Given the description of an element on the screen output the (x, y) to click on. 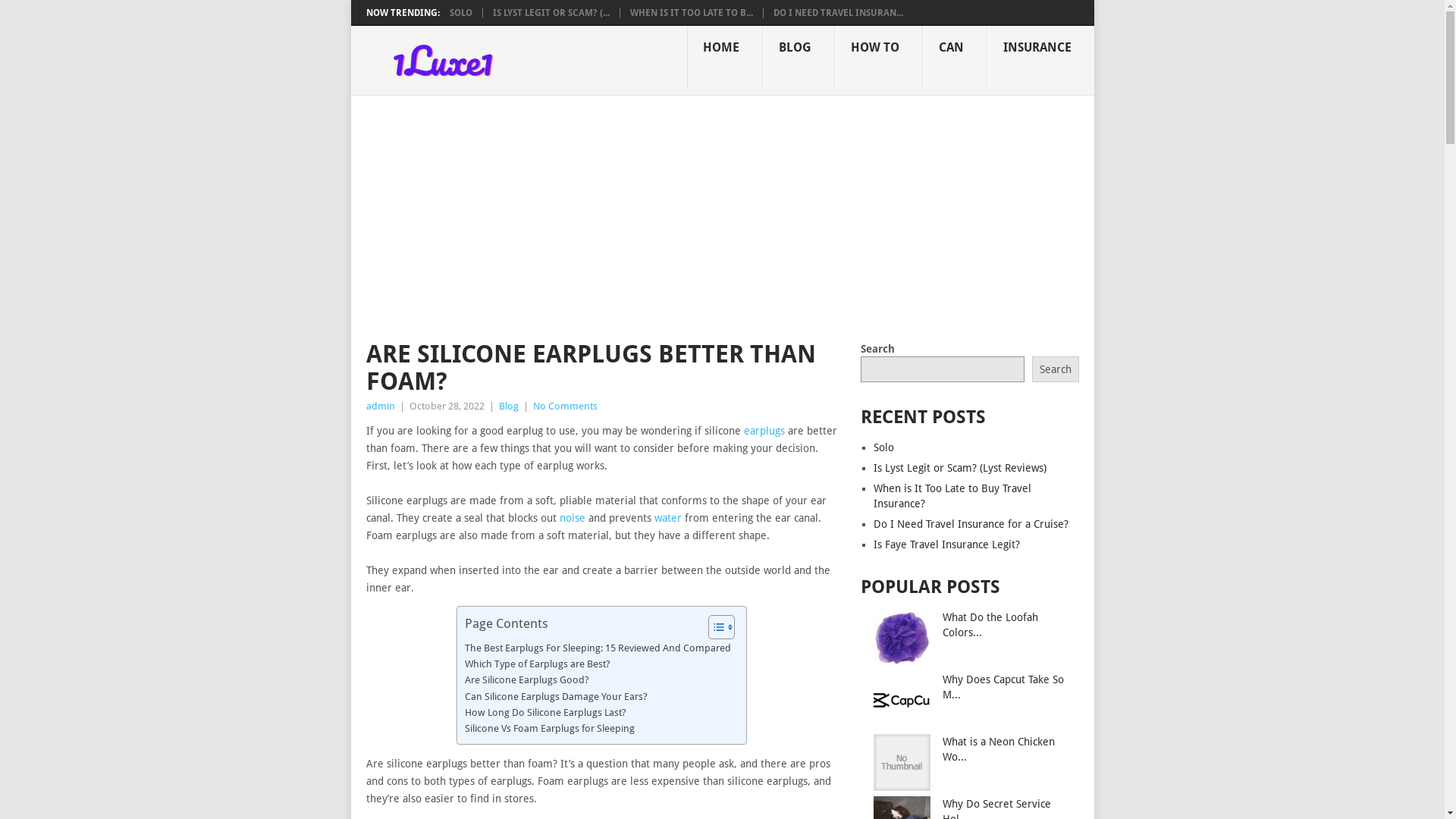
CAN Element type: text (954, 56)
HOW TO Element type: text (878, 56)
earplugs Element type: text (763, 430)
Blog Element type: text (508, 405)
The Best Earplugs For Sleeping: 15 Reviewed And Compared Element type: text (597, 647)
Is Lyst Legit or Scam? (Lyst Reviews) Element type: text (959, 467)
Can Silicone Earplugs Damage Your Ears? Element type: text (555, 696)
admin Element type: text (379, 405)
noise Element type: text (572, 517)
DO I NEED TRAVEL INSURAN... Element type: text (838, 12)
No Comments Element type: text (564, 405)
Which Type of Earplugs are Best? Element type: text (537, 663)
Advertisement Element type: hover (721, 209)
How Long Do Silicone Earplugs Last? Element type: text (545, 712)
INSURANCE Element type: text (1040, 56)
When is It Too Late to Buy Travel Insurance? Element type: text (952, 495)
What is a Neon Chicken Wo... Element type: text (998, 748)
Are Silicone Earplugs Good? Element type: text (526, 679)
What Do the Loofah Colors... Element type: text (990, 624)
Search Element type: text (1055, 369)
HOME Element type: text (724, 56)
Do I Need Travel Insurance for a Cruise? Element type: text (970, 523)
Solo Element type: text (883, 447)
Is Faye Travel Insurance Legit? Element type: text (946, 544)
Silicone Vs Foam Earplugs for Sleeping Element type: text (549, 728)
SOLO Element type: text (459, 12)
BLOG Element type: text (798, 56)
water Element type: text (666, 517)
Why Does Capcut Take So M... Element type: text (1002, 686)
WHEN IS IT TOO LATE TO B... Element type: text (690, 12)
IS LYST LEGIT OR SCAM? (... Element type: text (550, 12)
